Given the description of an element on the screen output the (x, y) to click on. 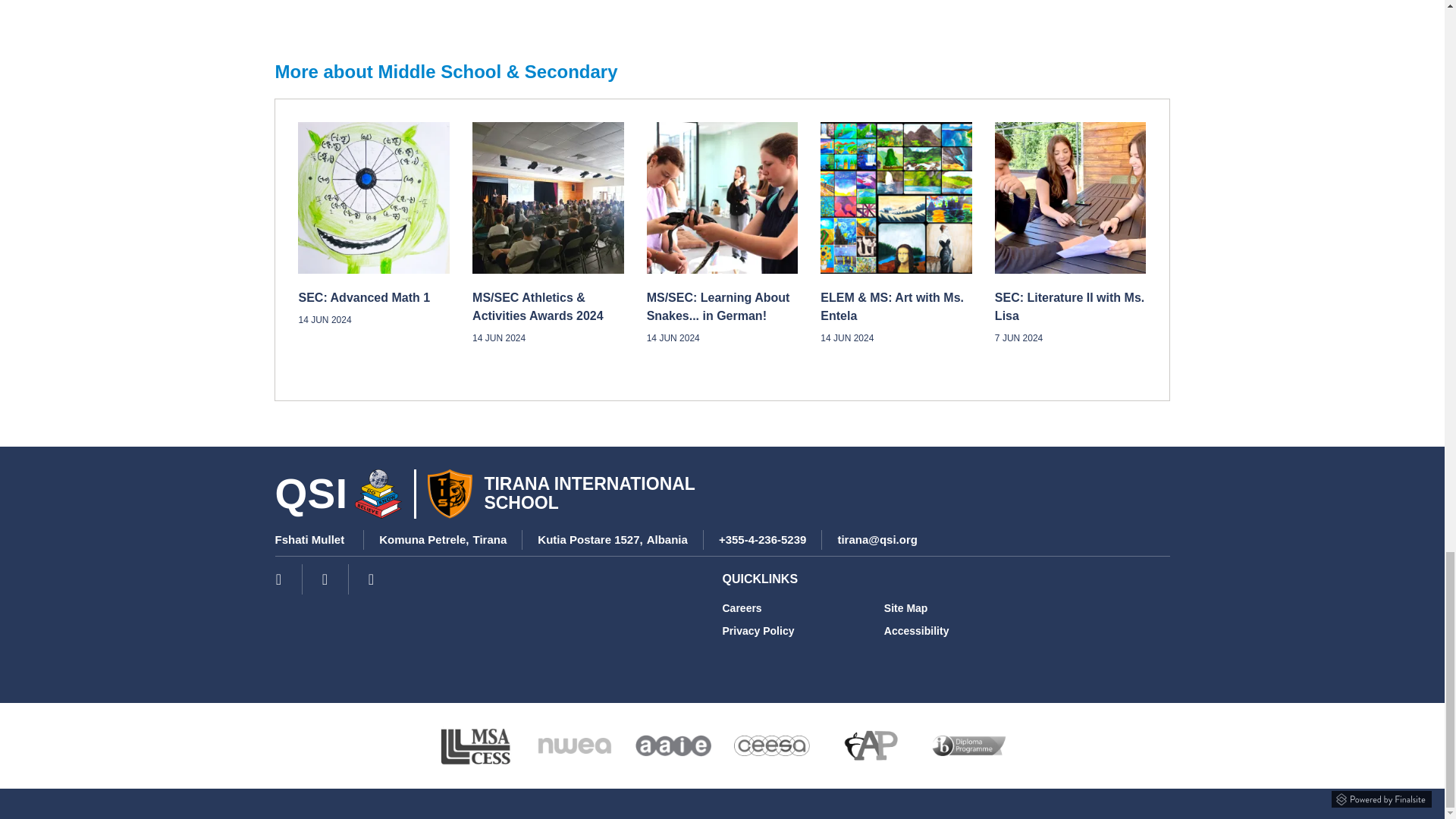
Powered by Finalsite opens in a new window (1382, 796)
Quality Schools International (379, 493)
Email (877, 539)
